Given the description of an element on the screen output the (x, y) to click on. 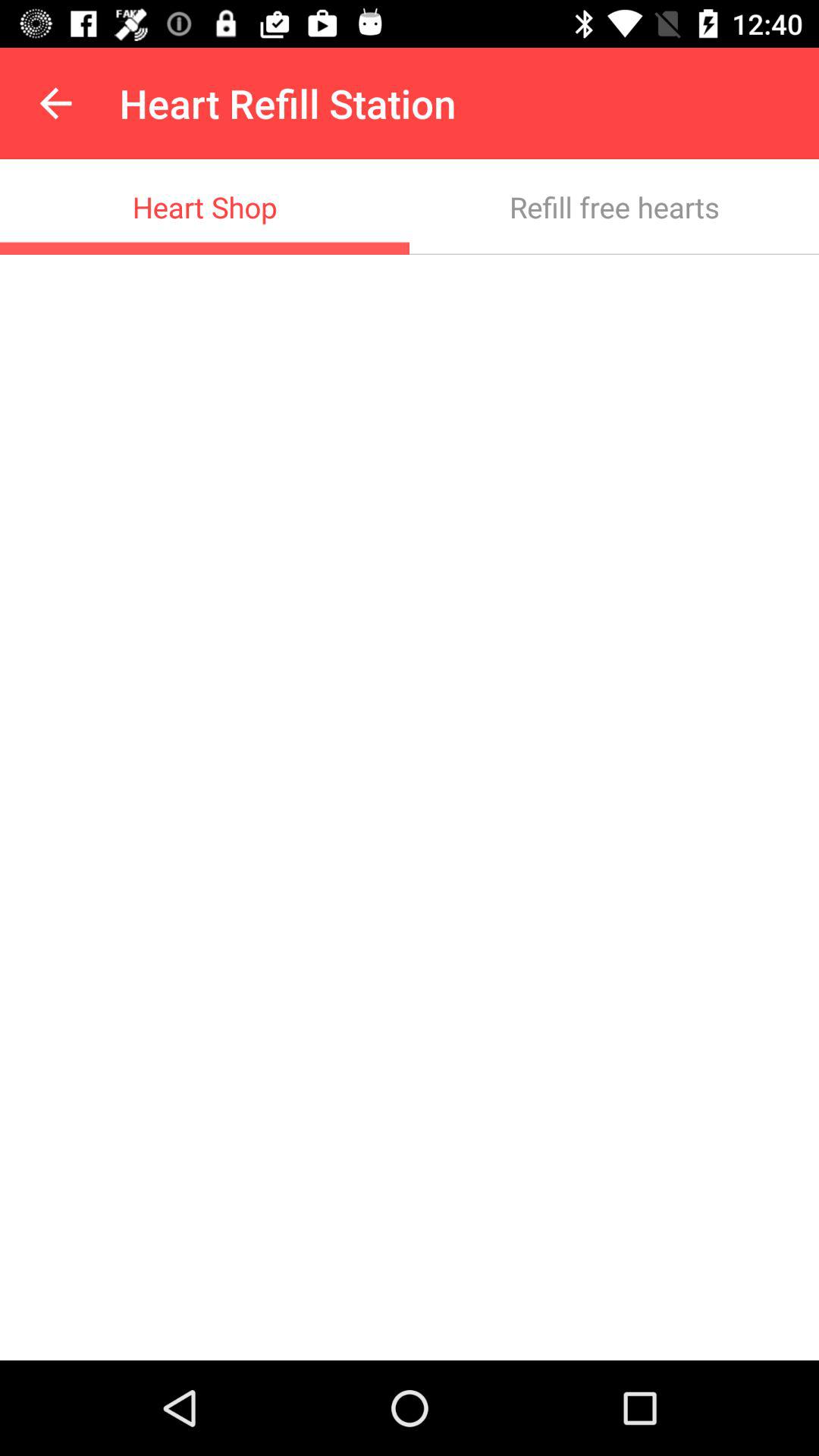
turn off icon below heart shop item (409, 807)
